Given the description of an element on the screen output the (x, y) to click on. 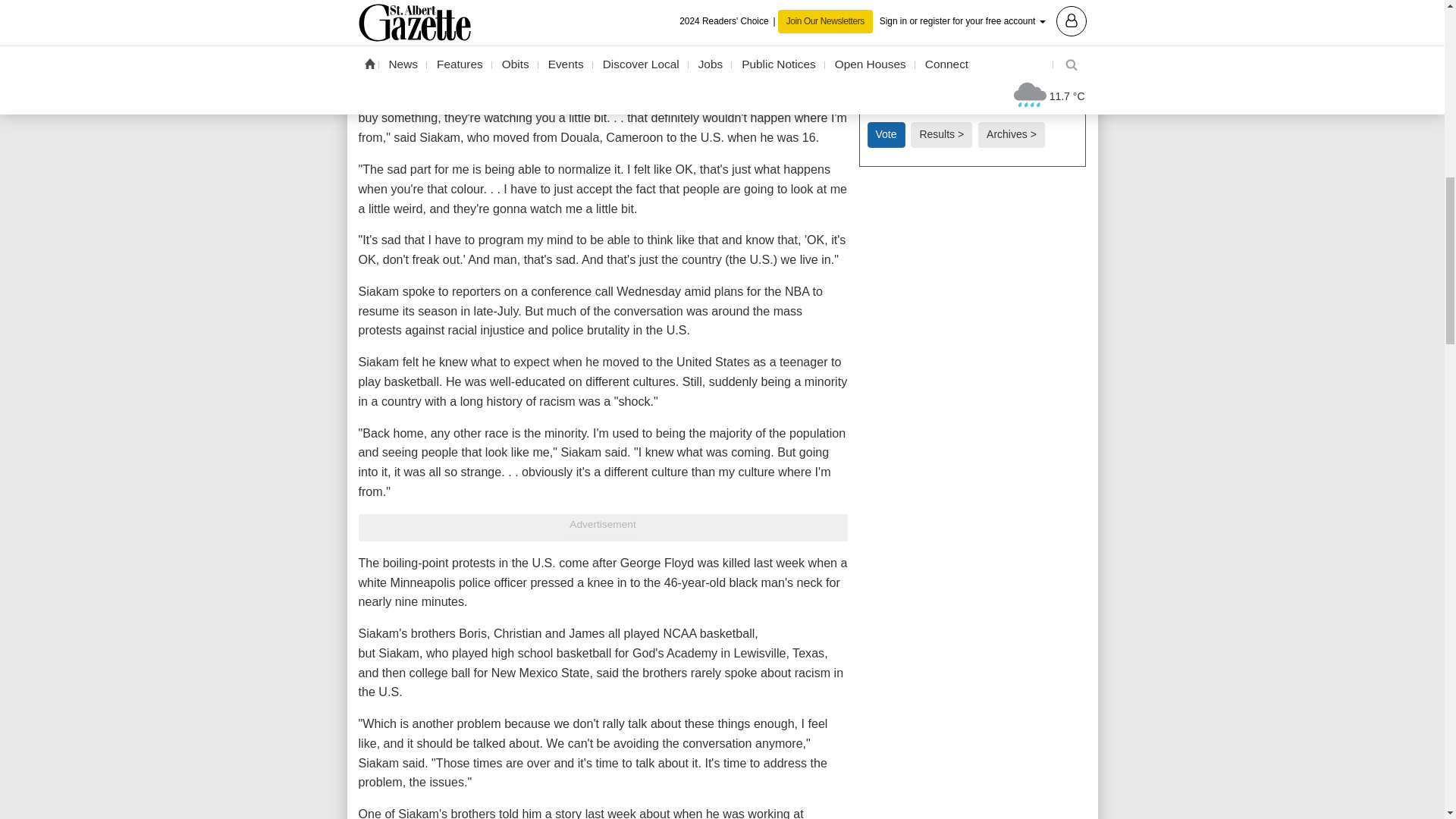
122824 (872, 18)
122826 (872, 88)
122825 (872, 53)
